Given the description of an element on the screen output the (x, y) to click on. 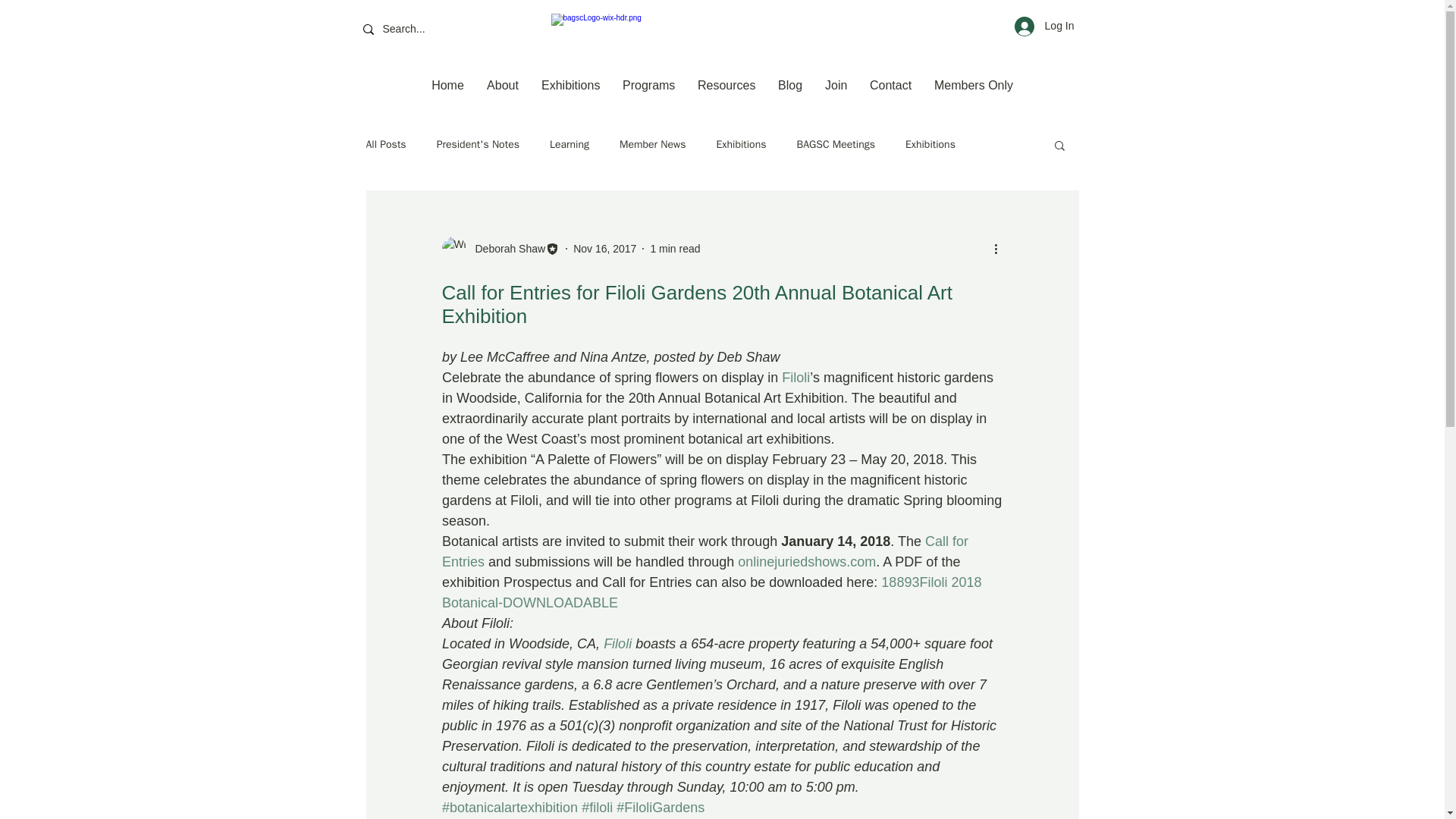
Members Only (974, 85)
Member News (652, 144)
BAGSC Meetings (835, 144)
Contact (891, 85)
Log In (1044, 26)
Programs (648, 85)
Join (836, 85)
1 min read (674, 248)
About (502, 85)
Exhibitions (930, 144)
Learning (569, 144)
Blog (790, 85)
All Posts (385, 144)
Exhibitions (570, 85)
President's Notes (477, 144)
